Given the description of an element on the screen output the (x, y) to click on. 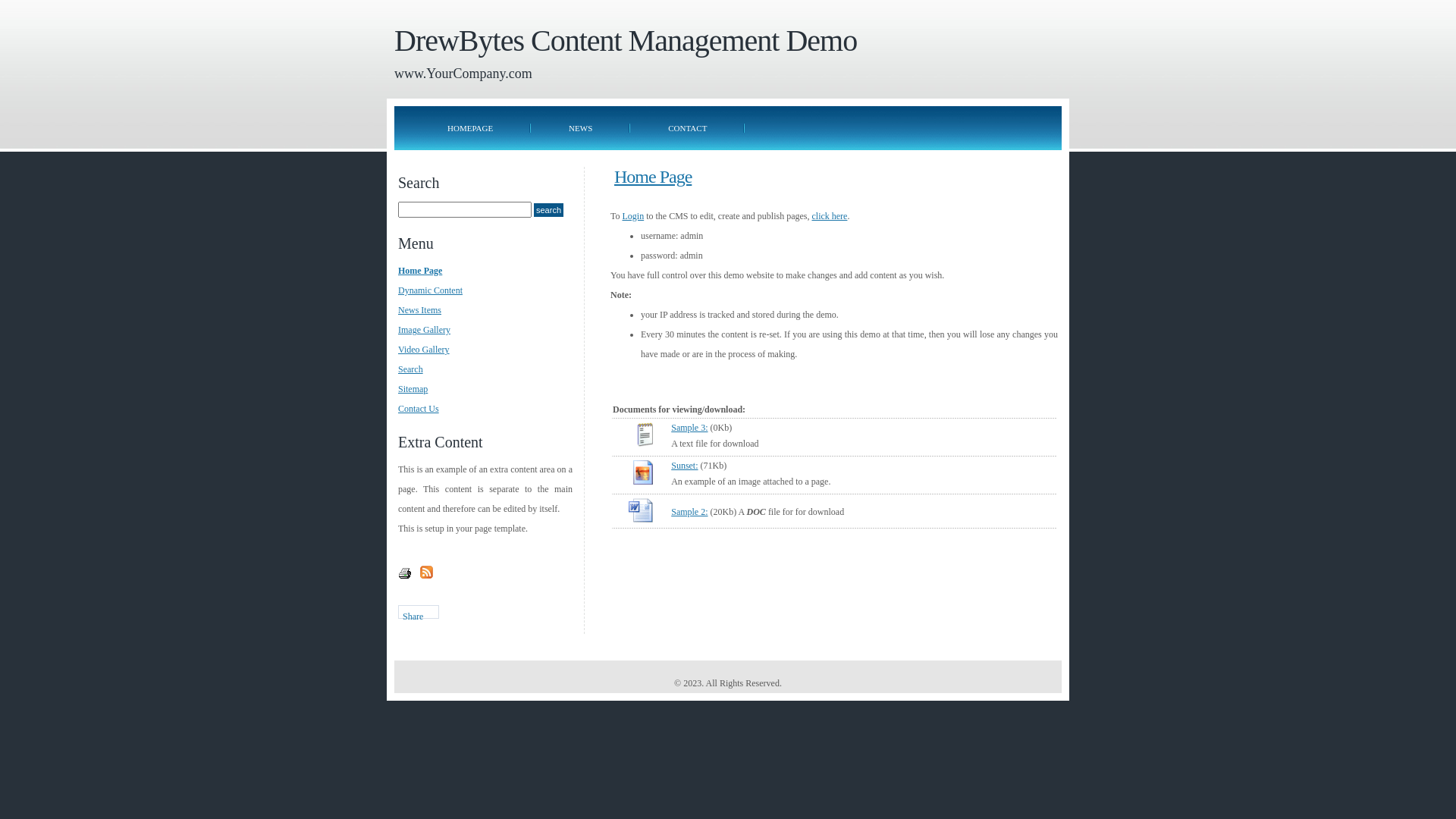
Sitemap Element type: text (412, 388)
CONTACT Element type: text (687, 127)
Search Element type: text (410, 369)
DrewBytes Content Management Demo Element type: text (625, 40)
Home Page Element type: text (652, 176)
HOMEPAGE Element type: text (469, 127)
Image Gallery Element type: text (424, 329)
Dynamic Content Element type: text (430, 290)
NEWS Element type: text (580, 127)
Video Gallery Element type: text (423, 349)
Sunset: Element type: text (684, 465)
News Items Element type: text (419, 309)
Login Element type: text (632, 215)
Print this page Element type: hover (404, 575)
Search Element type: text (548, 209)
Home Page Element type: text (420, 270)
Share Element type: text (418, 611)
Sample 2: Element type: text (689, 511)
Contact Us Element type: text (418, 408)
click here Element type: text (829, 215)
Sample 3: Element type: text (689, 427)
